Given the description of an element on the screen output the (x, y) to click on. 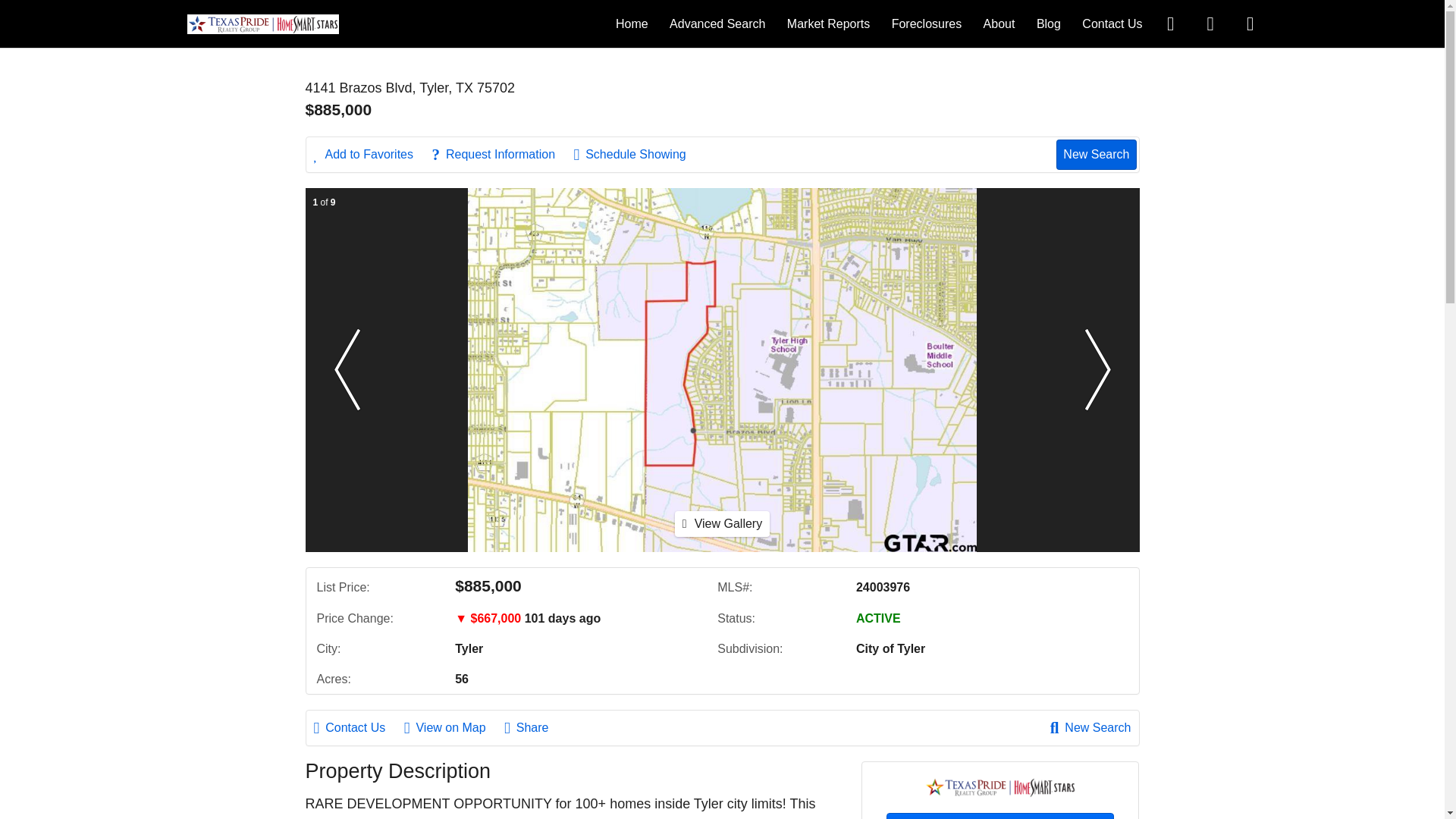
Contact Us (999, 816)
Advanced Search (717, 23)
Contact Us (357, 727)
Market Reports (828, 23)
Foreclosures (925, 23)
New Search (1096, 154)
View on Map (452, 727)
New Search (1090, 727)
Schedule Showing (636, 154)
View Gallery (722, 522)
